Given the description of an element on the screen output the (x, y) to click on. 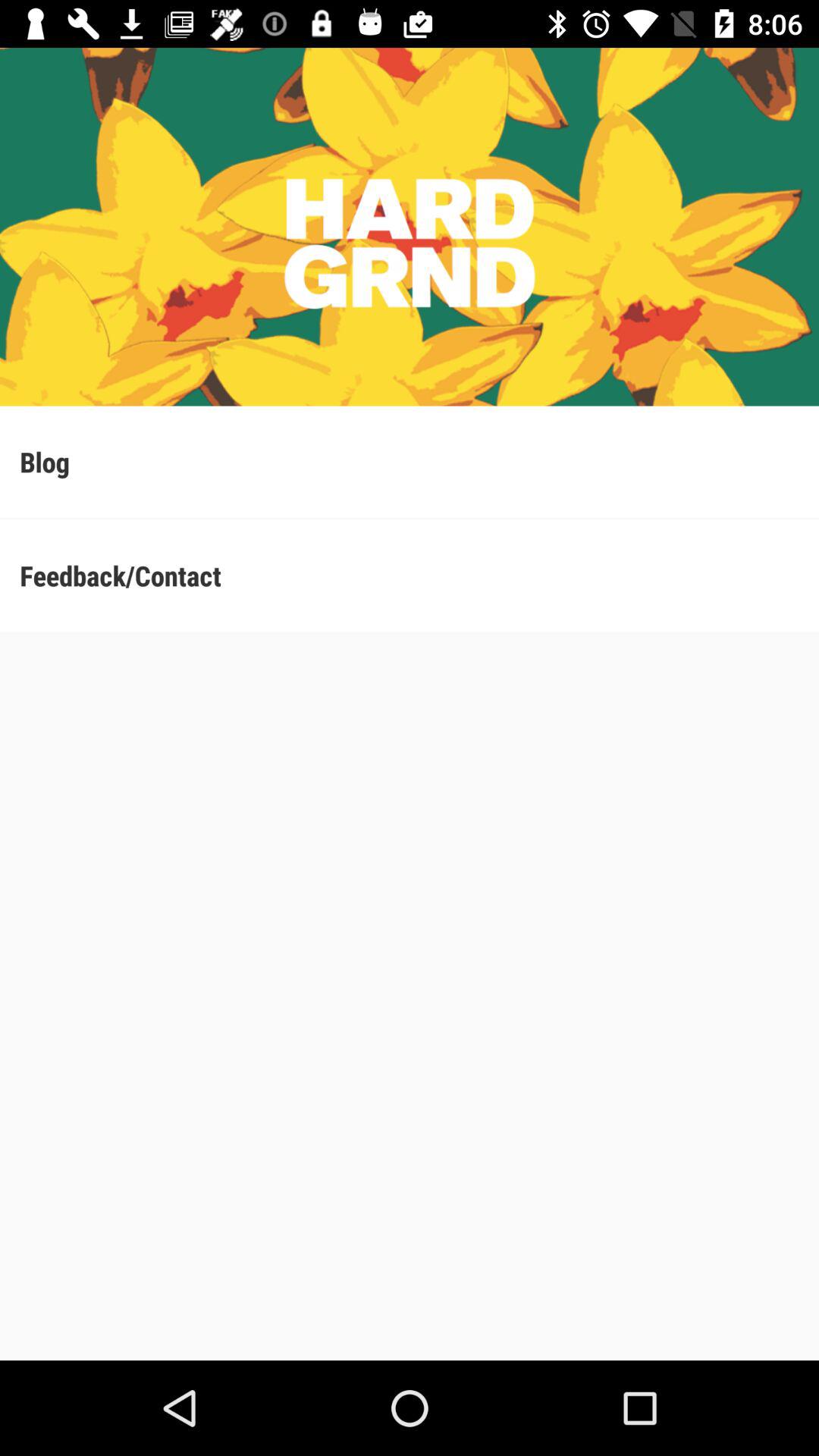
open the blog item (409, 461)
